Given the description of an element on the screen output the (x, y) to click on. 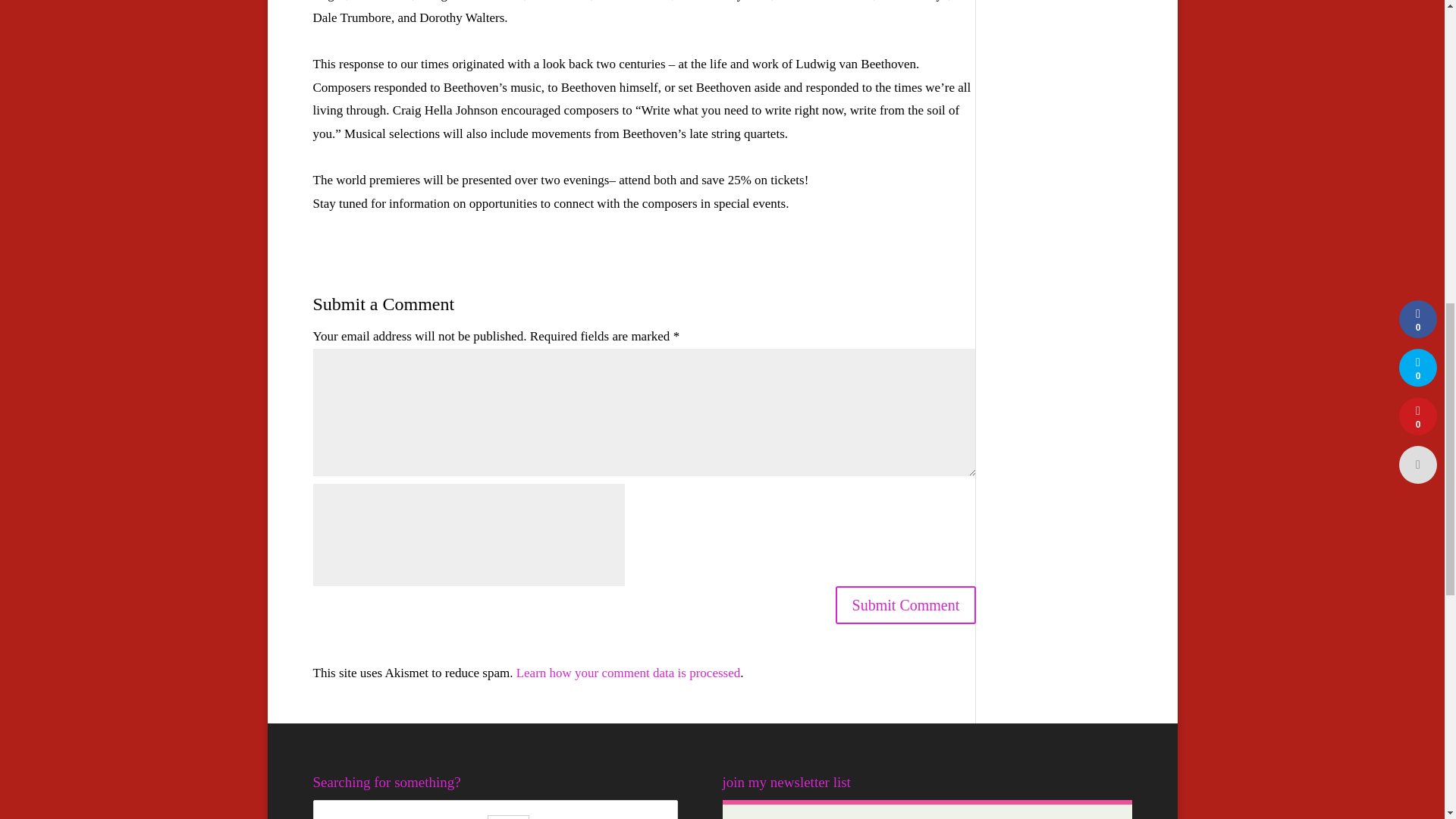
Submit Comment (905, 605)
